Given the description of an element on the screen output the (x, y) to click on. 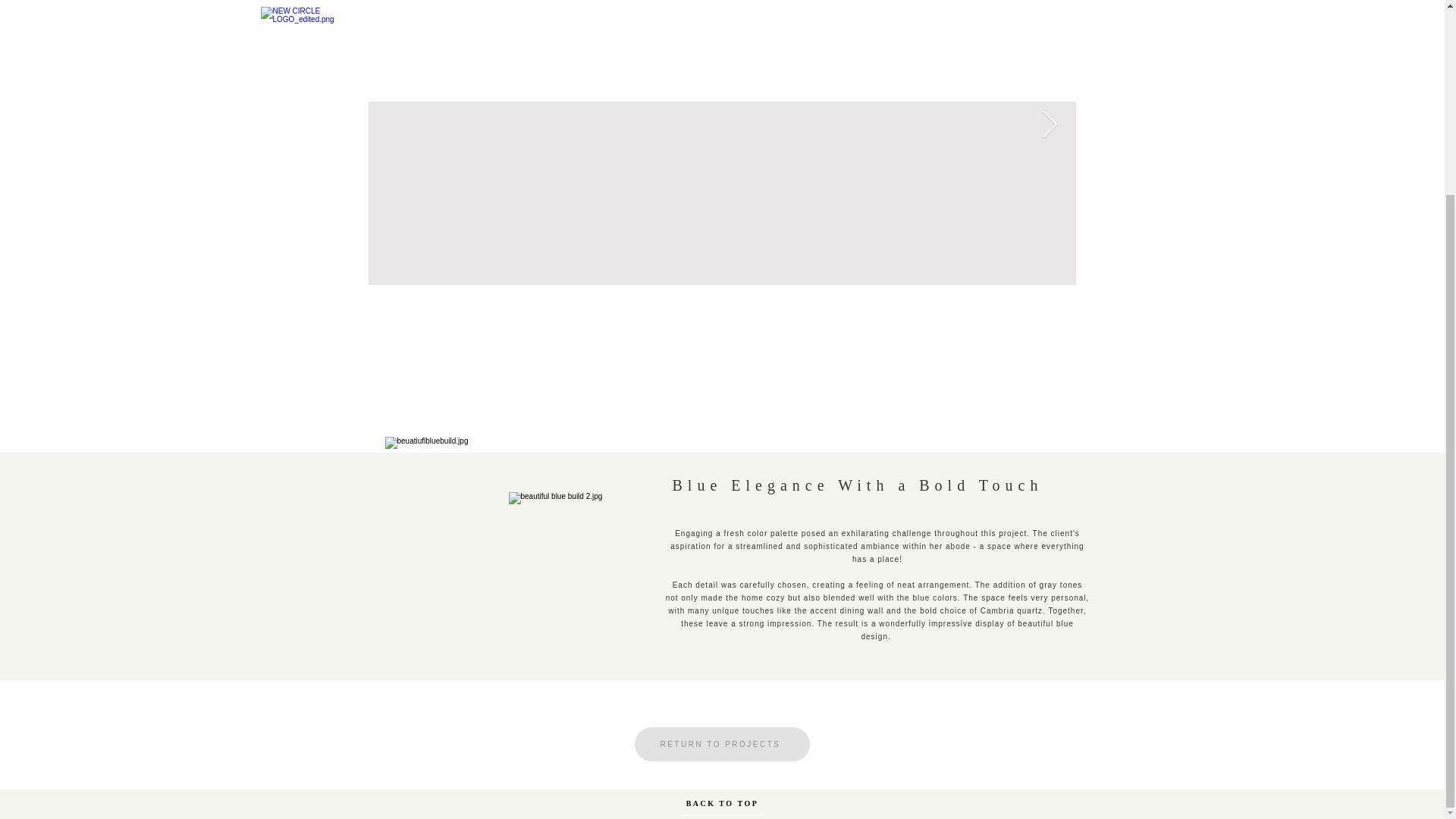
RETURN TO PROJECTS (721, 744)
BACK TO TOP (722, 558)
